Given the description of an element on the screen output the (x, y) to click on. 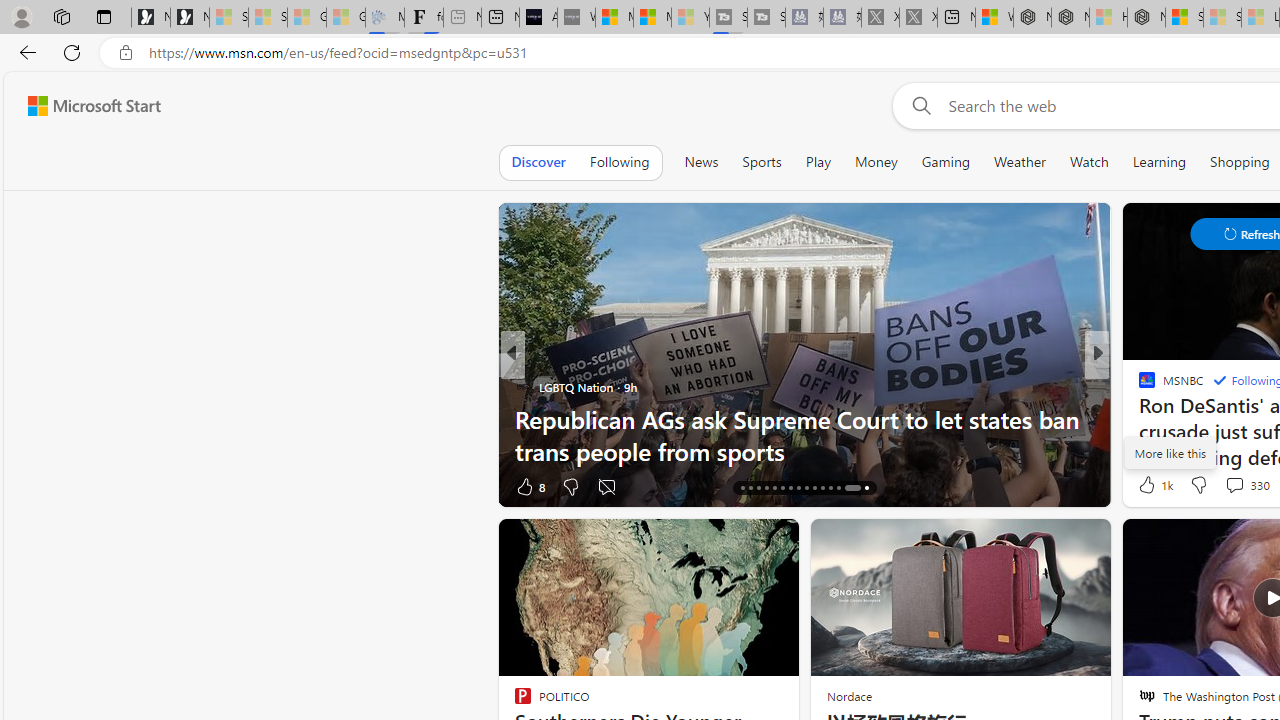
You're following FOX News (445, 490)
AutomationID: tab-30 (859, 487)
View comments 266 Comment (11, 485)
Shopping (1240, 161)
View comments 213 Comment (11, 485)
